Given the description of an element on the screen output the (x, y) to click on. 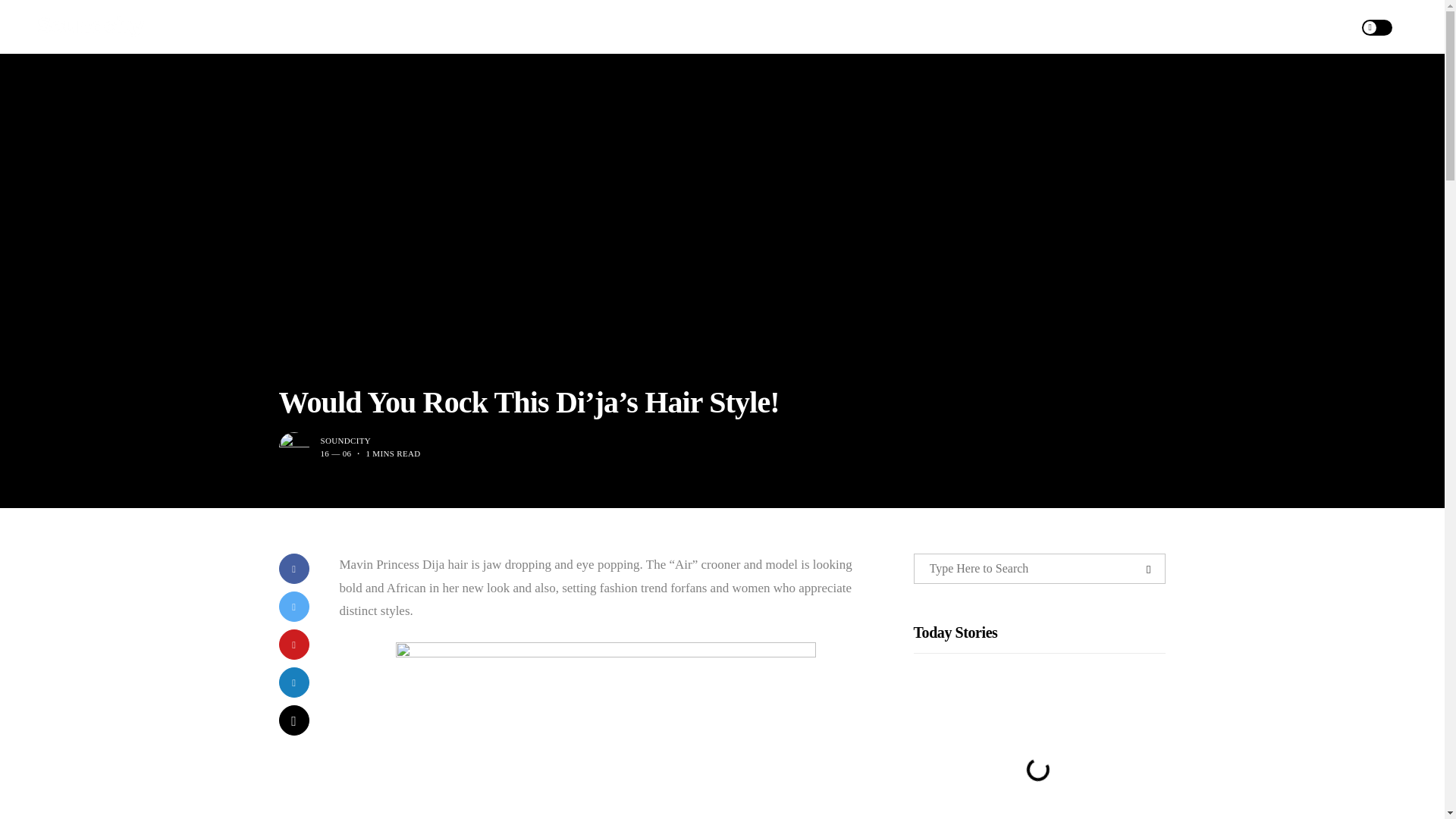
Posts by Soundcity (345, 440)
COUNTRIES (891, 26)
